Given the description of an element on the screen output the (x, y) to click on. 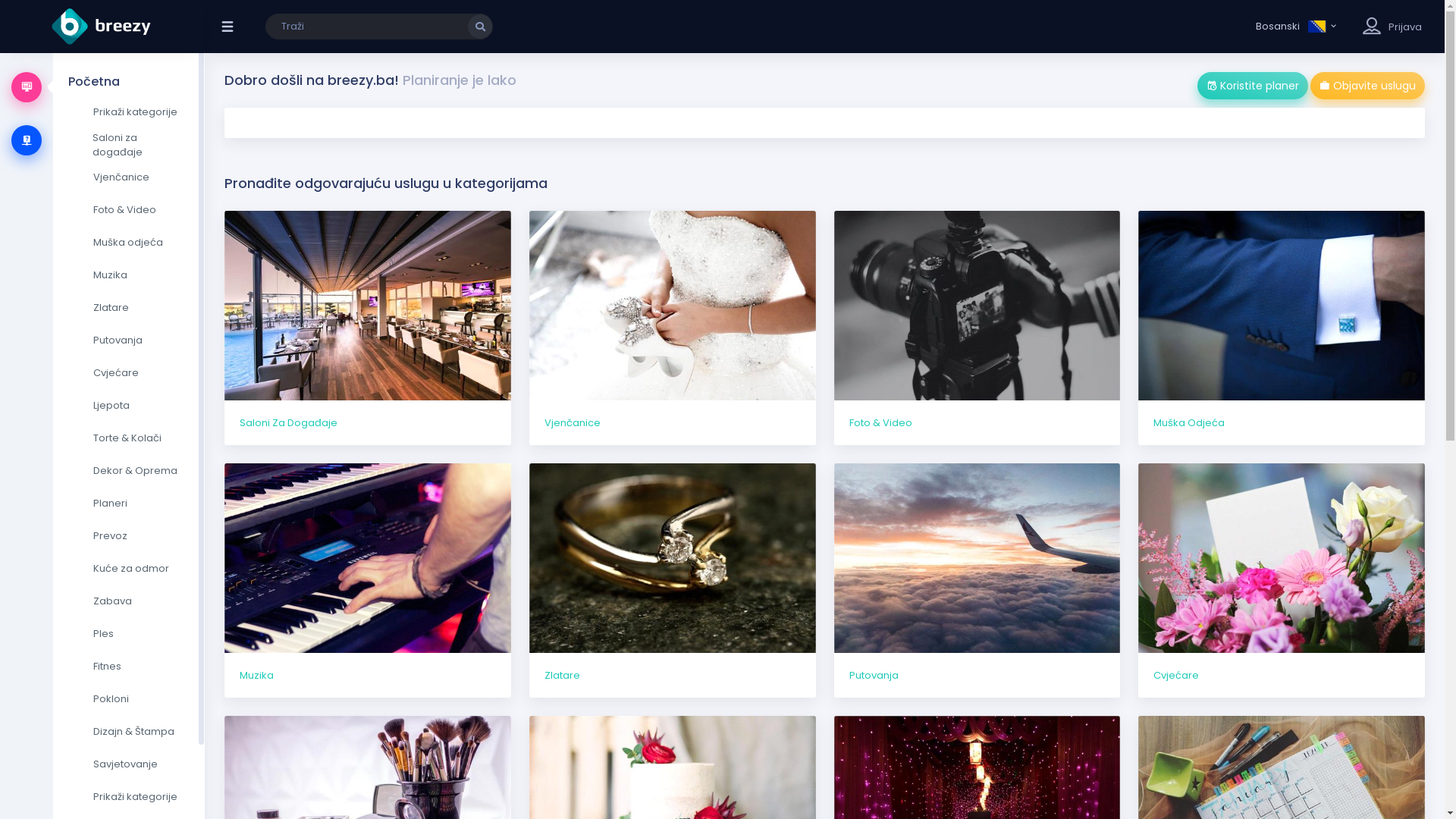
Putovanja Element type: text (977, 580)
Foto & Video Element type: text (977, 327)
Objavite uslugu Element type: text (1367, 85)
Ples Element type: text (128, 633)
Foto & Video Element type: text (128, 209)
Bosanski Element type: text (1296, 26)
Zlatare Element type: text (672, 580)
Prevoz Element type: text (128, 535)
Fitnes Element type: text (128, 666)
Prijava Element type: text (1404, 26)
Zlatare Element type: text (128, 307)
Putovanja Element type: text (128, 340)
Planeri Element type: text (128, 503)
Dekor & Oprema Element type: text (128, 470)
Muzika Element type: text (128, 274)
Muzika Element type: text (367, 580)
Pokloni Element type: text (128, 698)
Ljepota Element type: text (128, 405)
Koristite planer Element type: text (1252, 85)
Zabava Element type: text (128, 601)
Savjetovanje Element type: text (128, 764)
